Given the description of an element on the screen output the (x, y) to click on. 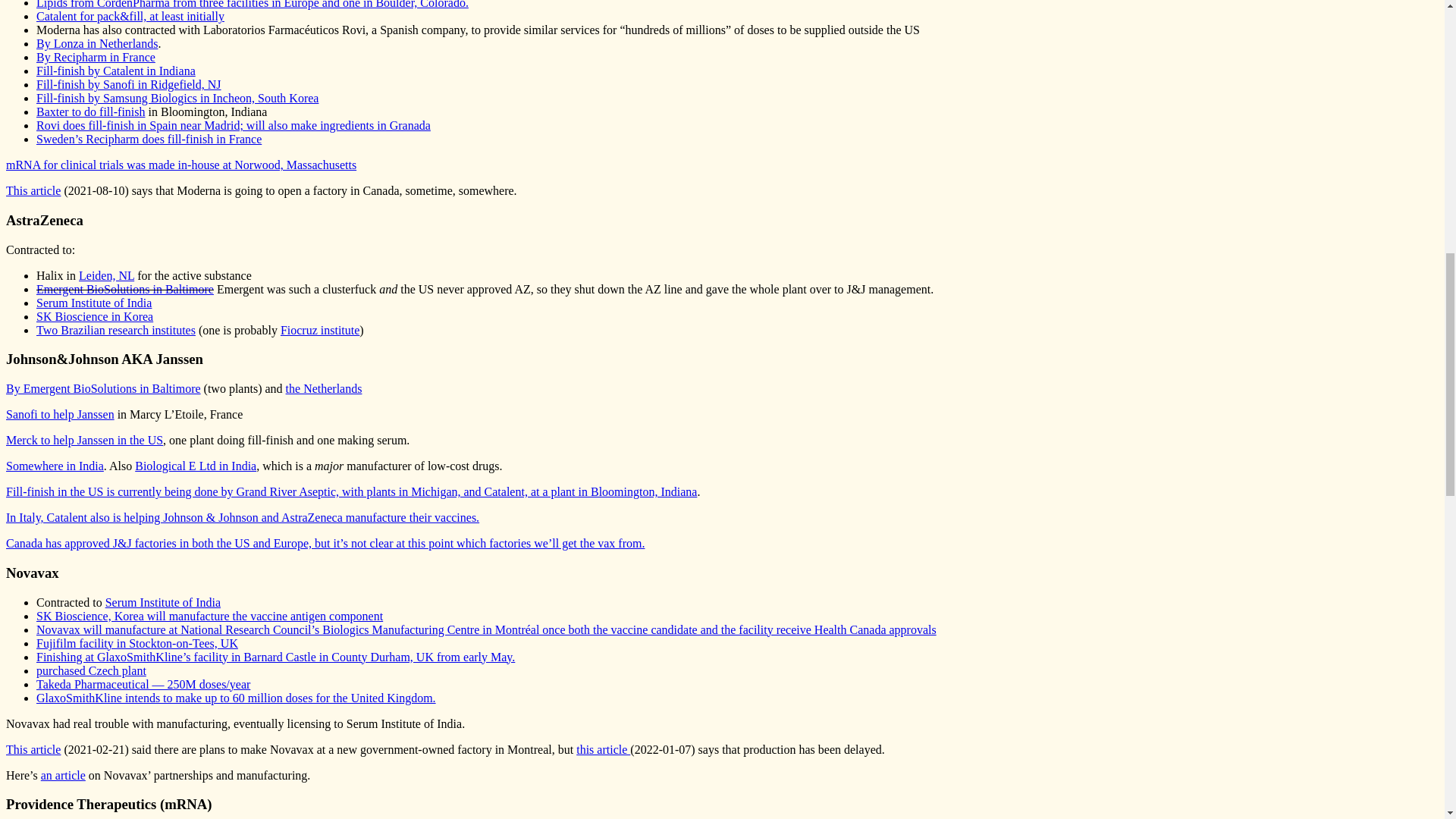
By Lonza in Netherlands (96, 42)
Fill-finish by Sanofi in Ridgefield, NJ (128, 83)
Fill-finish by Samsung Biologics in Incheon, South Korea (177, 97)
By Recipharm in France (95, 56)
Fill-finish by Catalent in Indiana (115, 70)
